Given the description of an element on the screen output the (x, y) to click on. 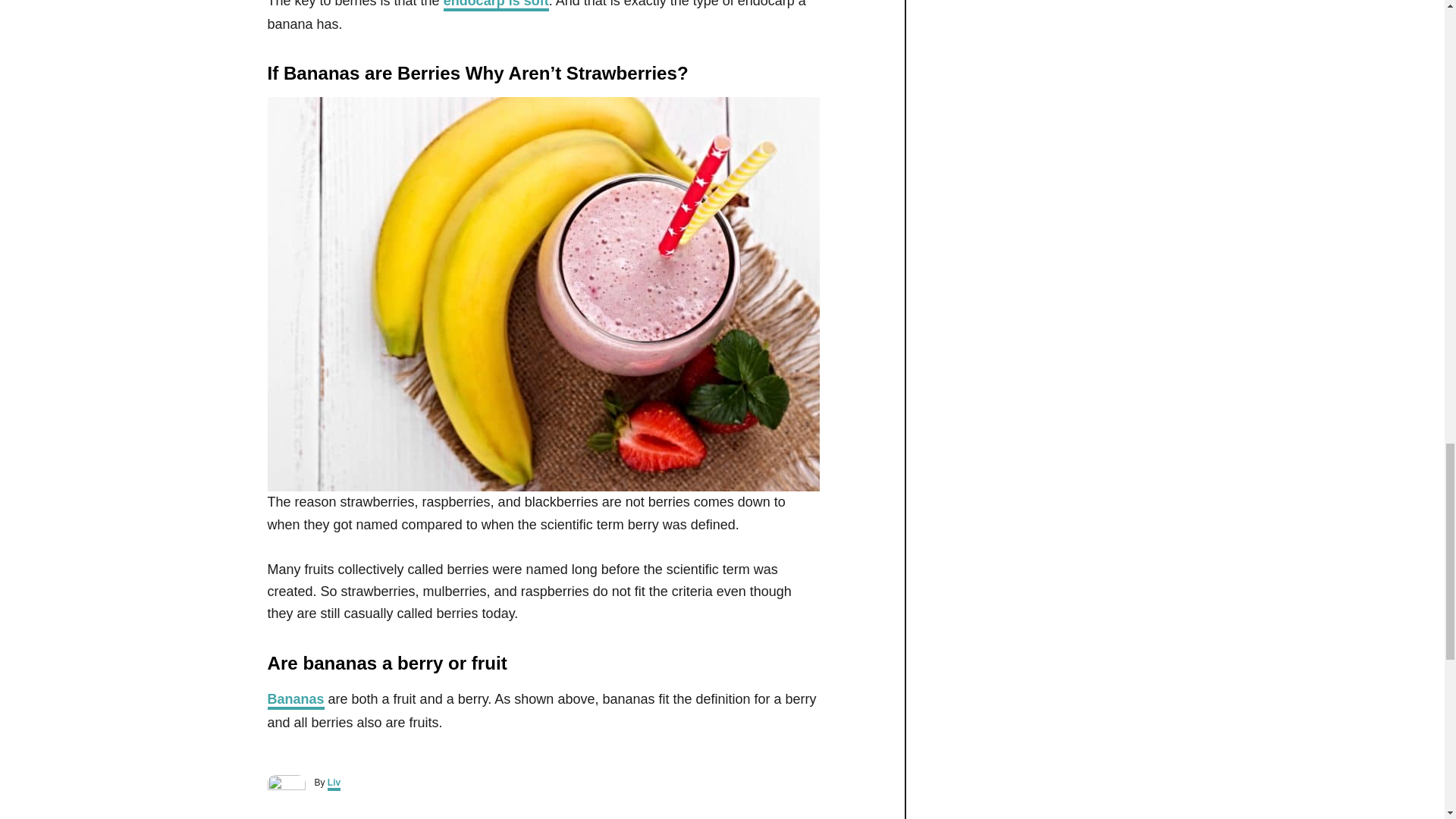
Liv (333, 784)
Bananas (294, 700)
endocarp is soft (496, 5)
